Given the description of an element on the screen output the (x, y) to click on. 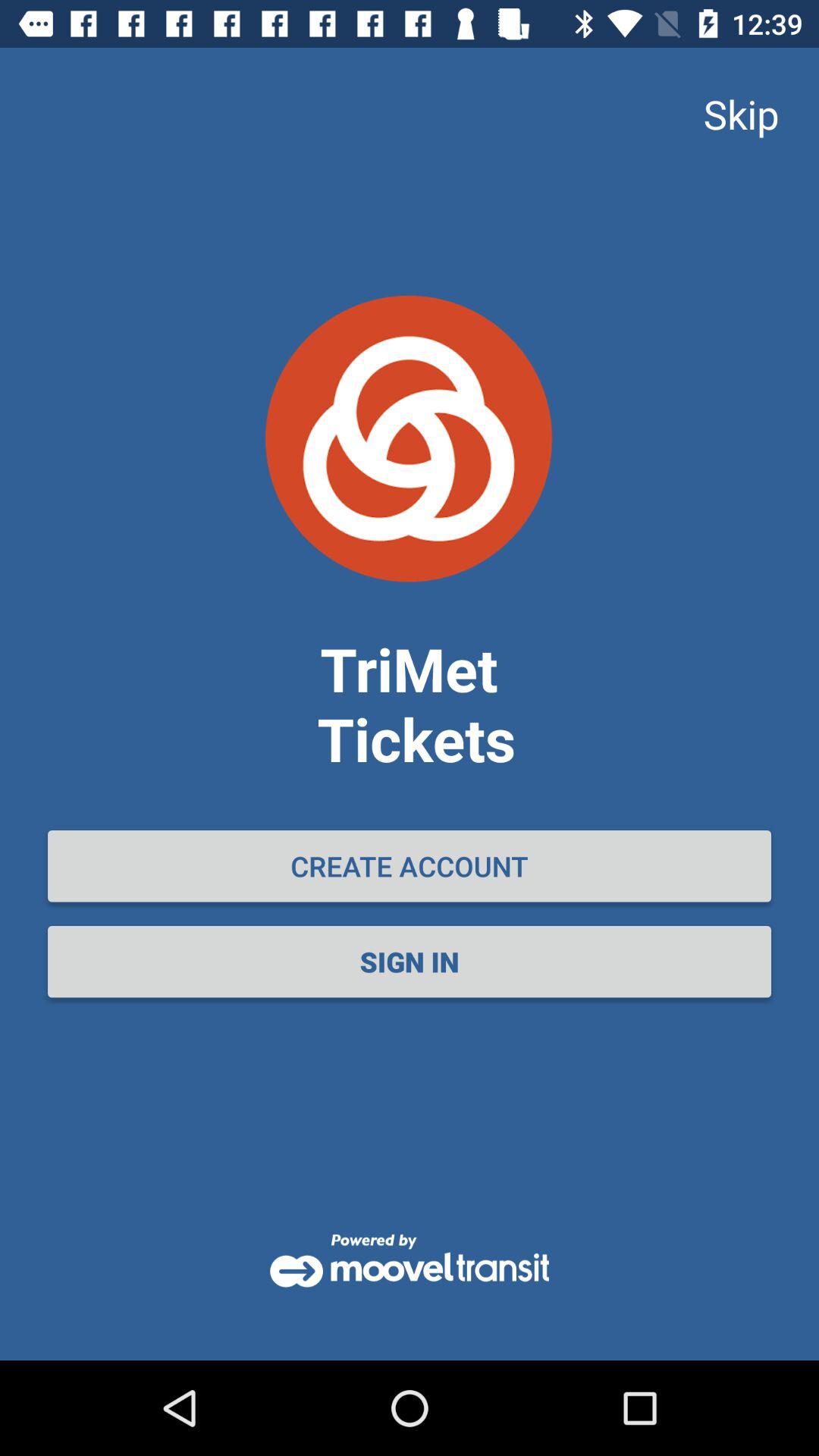
open skip (741, 113)
